Given the description of an element on the screen output the (x, y) to click on. 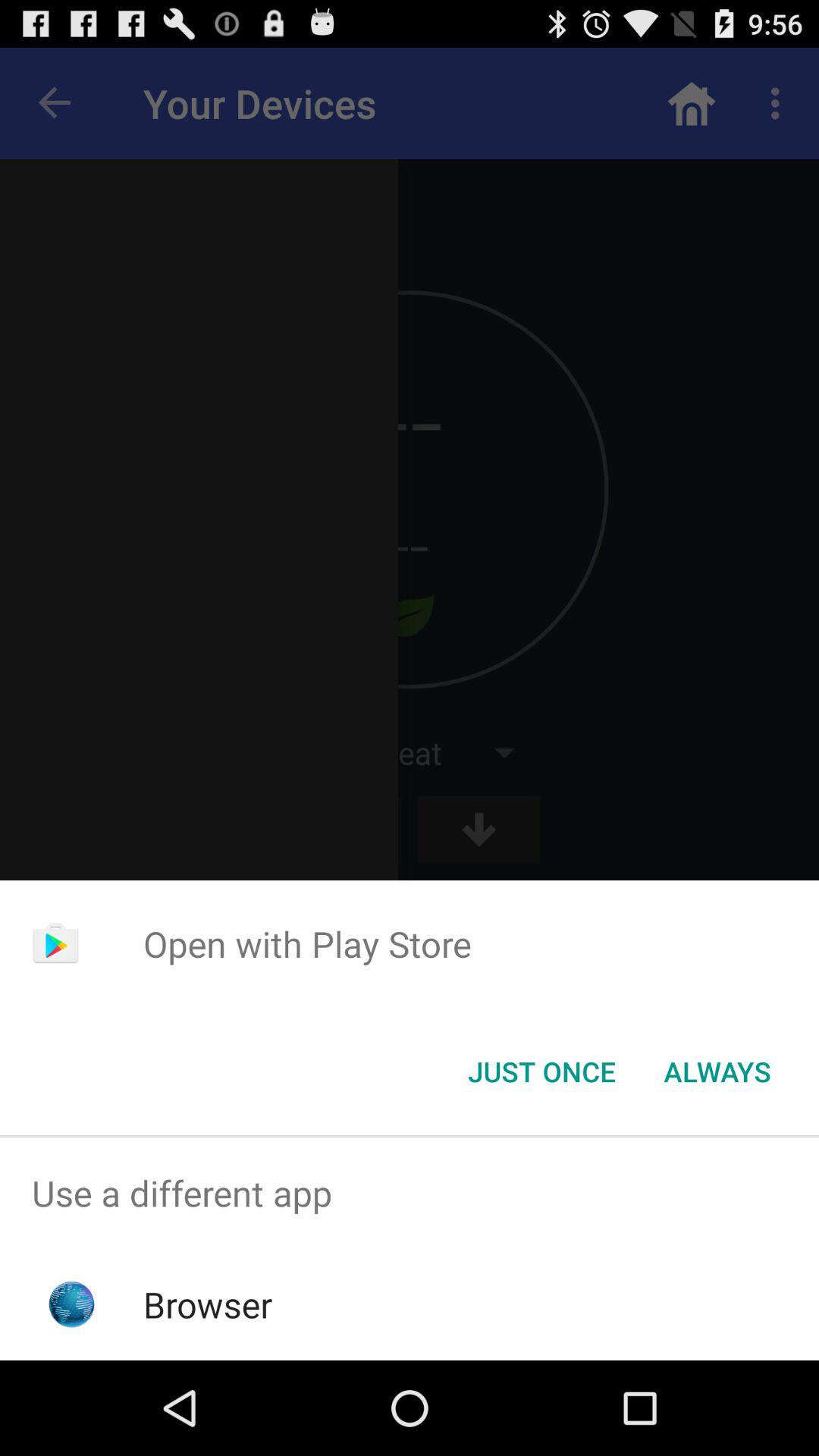
turn off the always item (717, 1071)
